Given the description of an element on the screen output the (x, y) to click on. 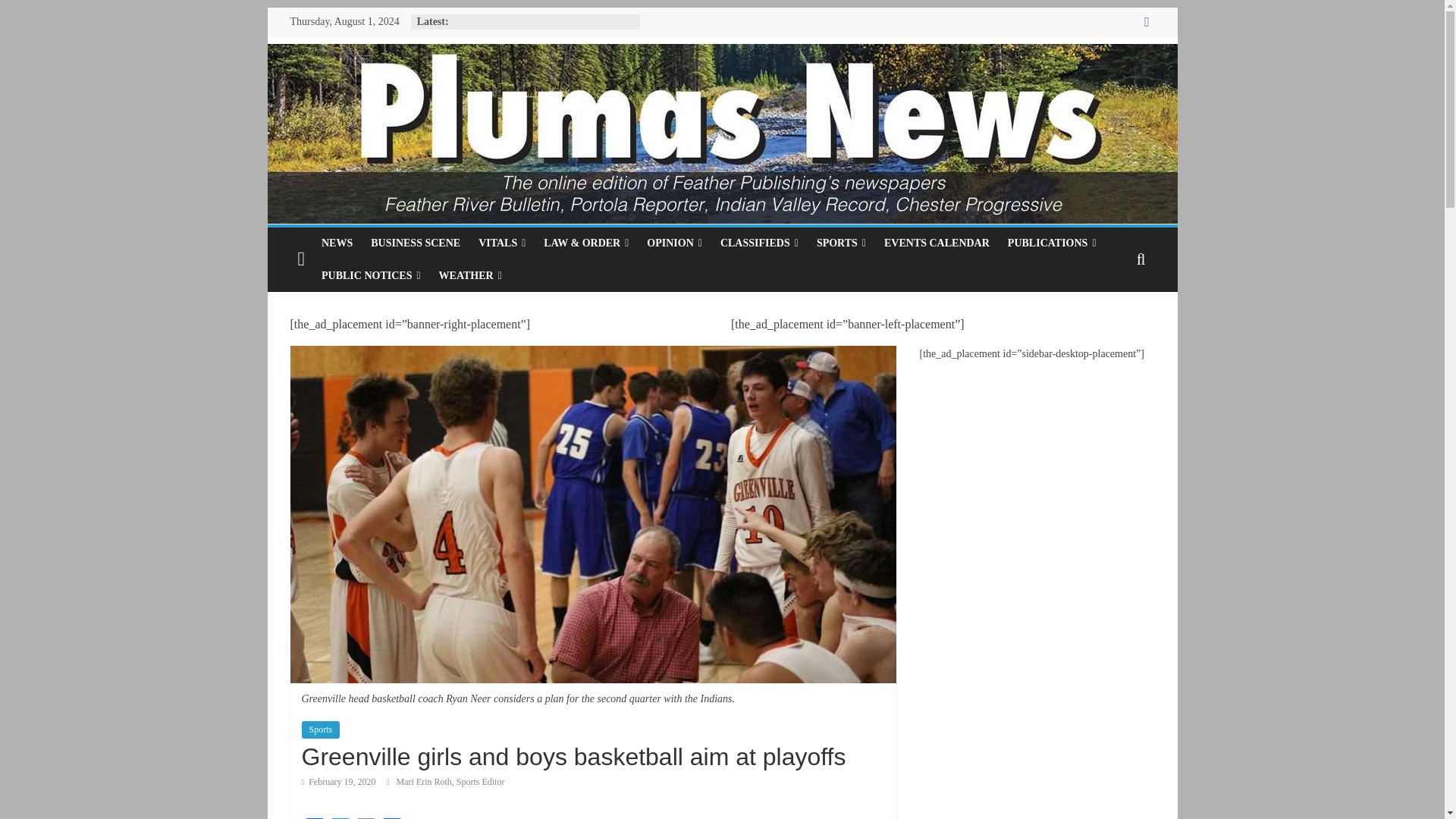
BUSINESS SCENE (414, 243)
Mari Erin Roth, Sports Editor (450, 781)
NEWS (337, 243)
VITALS (501, 243)
8:46 am (338, 781)
CLASSIFIEDS (759, 243)
EVENTS CALENDAR (936, 243)
